Given the description of an element on the screen output the (x, y) to click on. 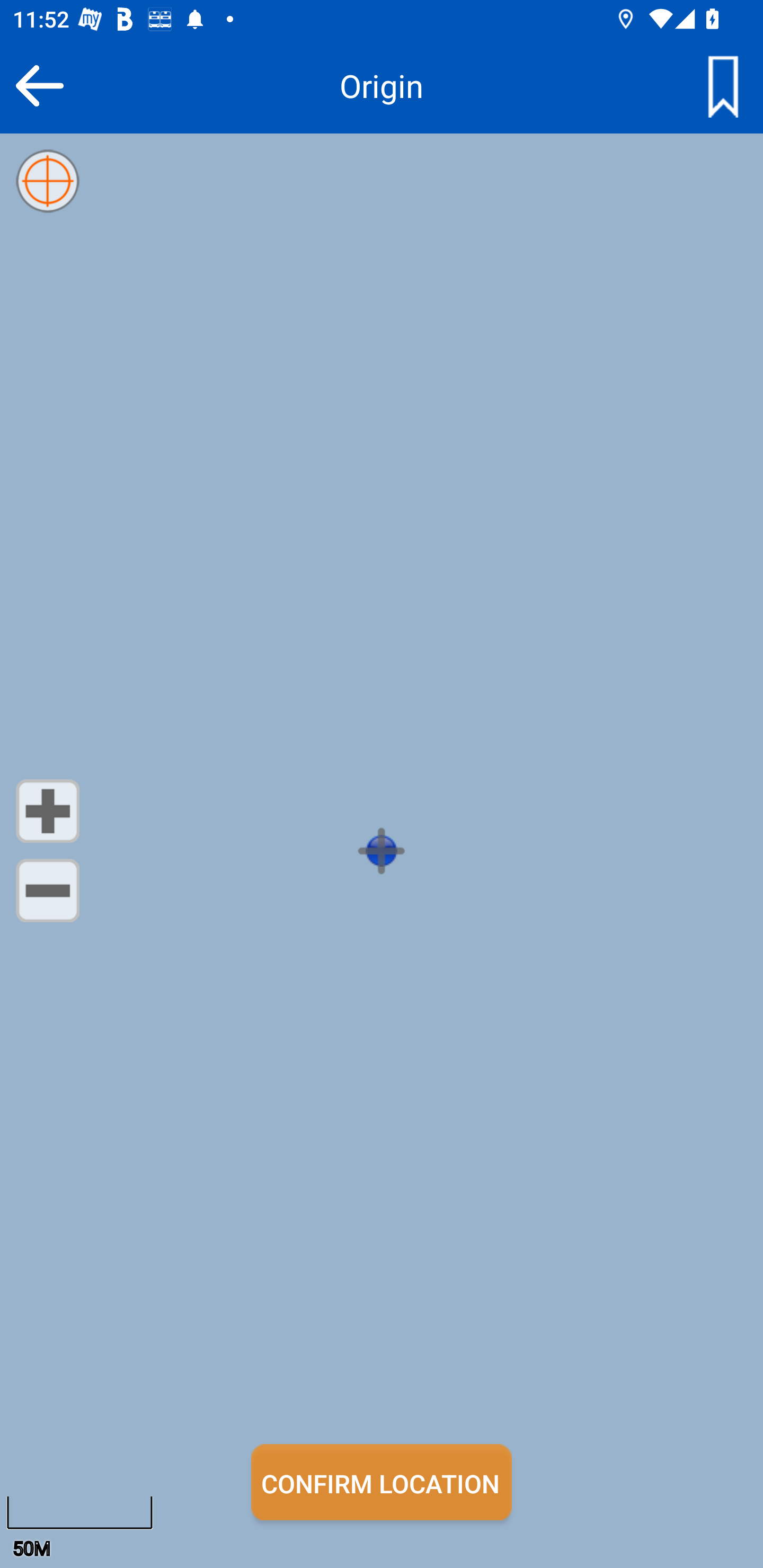
Add bookmark (723, 85)
Back (39, 85)
CONFIRM LOCATION (381, 1482)
